Given the description of an element on the screen output the (x, y) to click on. 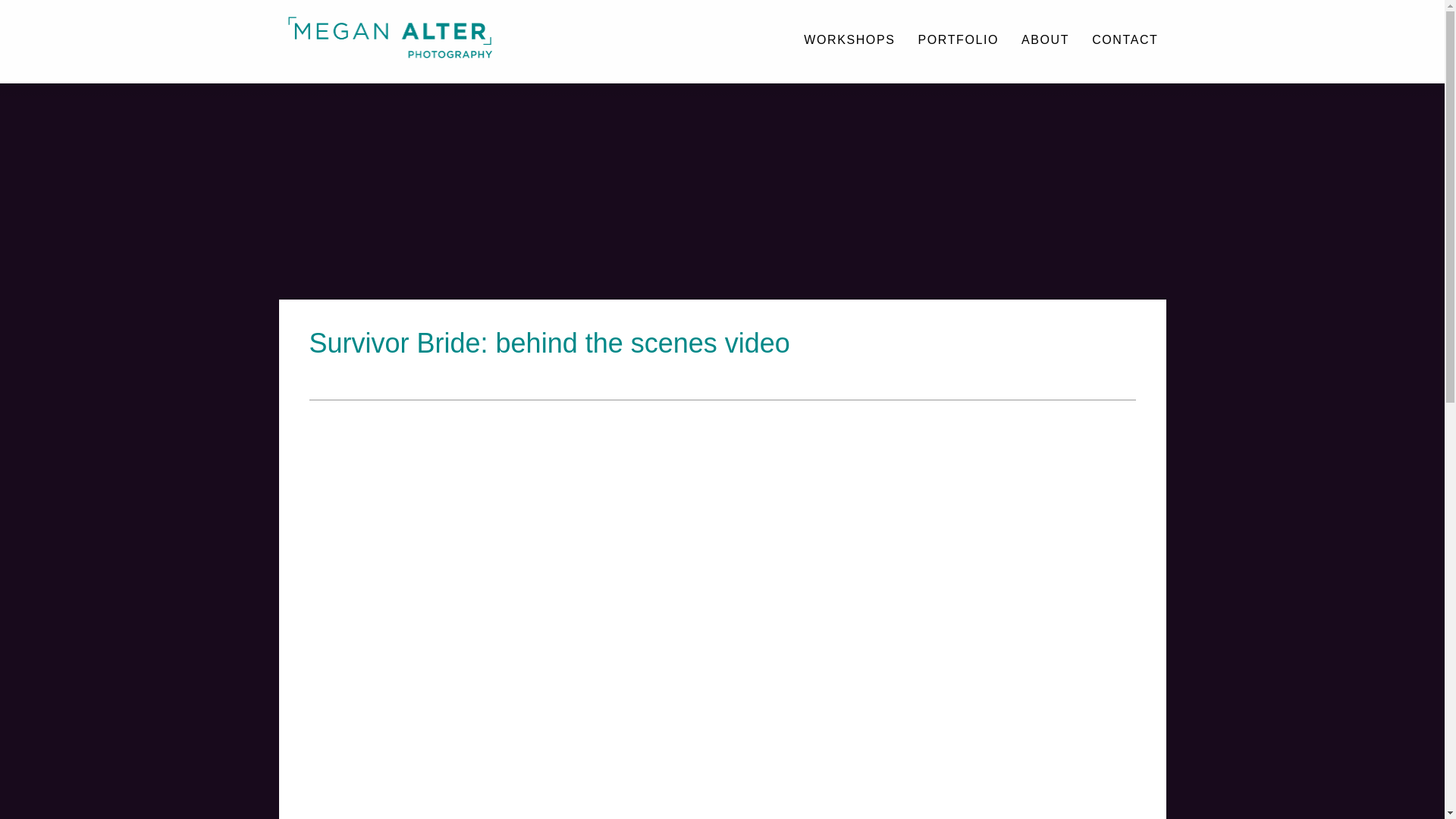
CONTACT (1124, 41)
WORKSHOPS (848, 41)
PORTFOLIO (957, 41)
ABOUT (1045, 41)
